Given the description of an element on the screen output the (x, y) to click on. 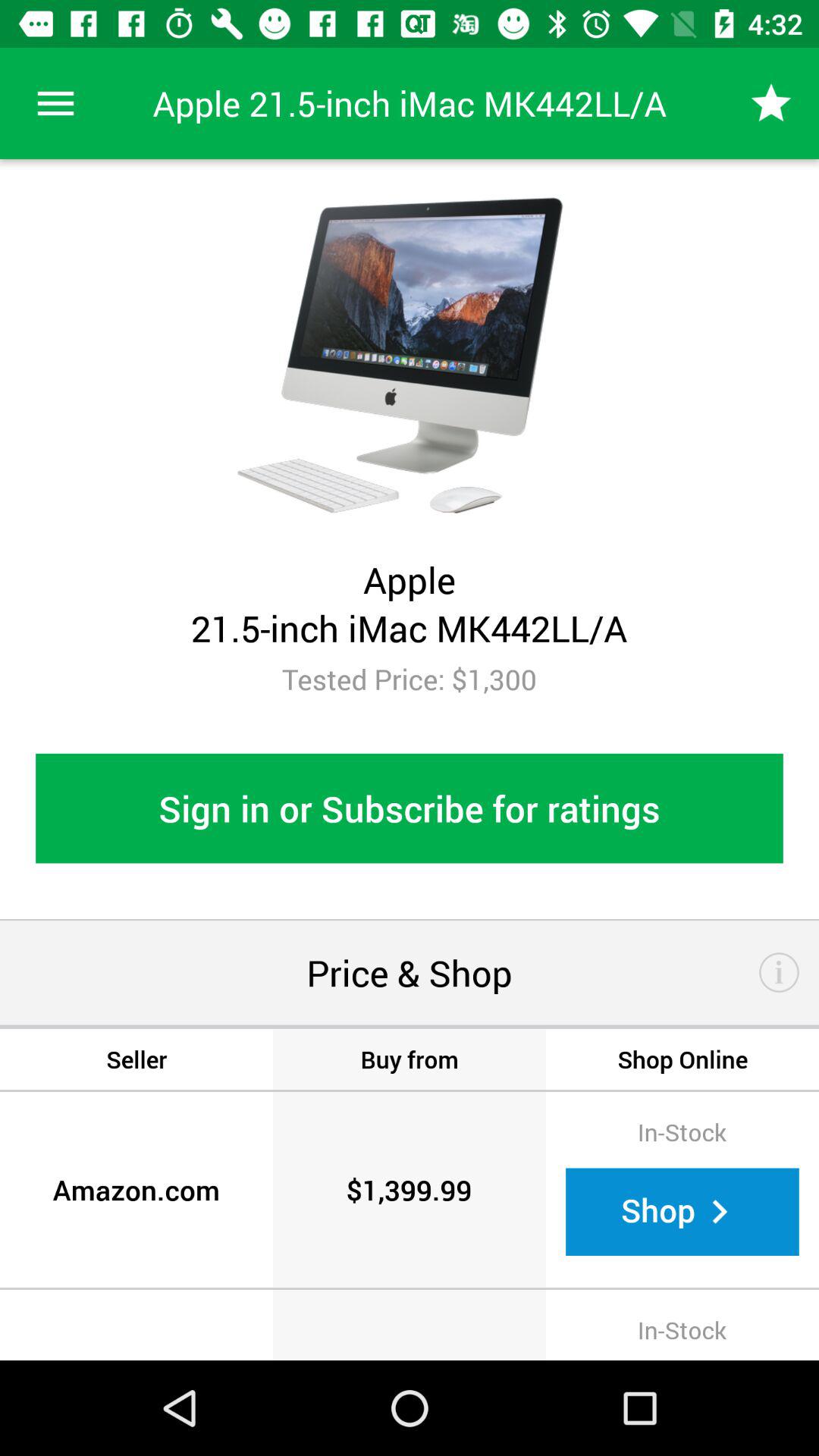
launch icon next to the apple 21 5 icon (55, 103)
